Given the description of an element on the screen output the (x, y) to click on. 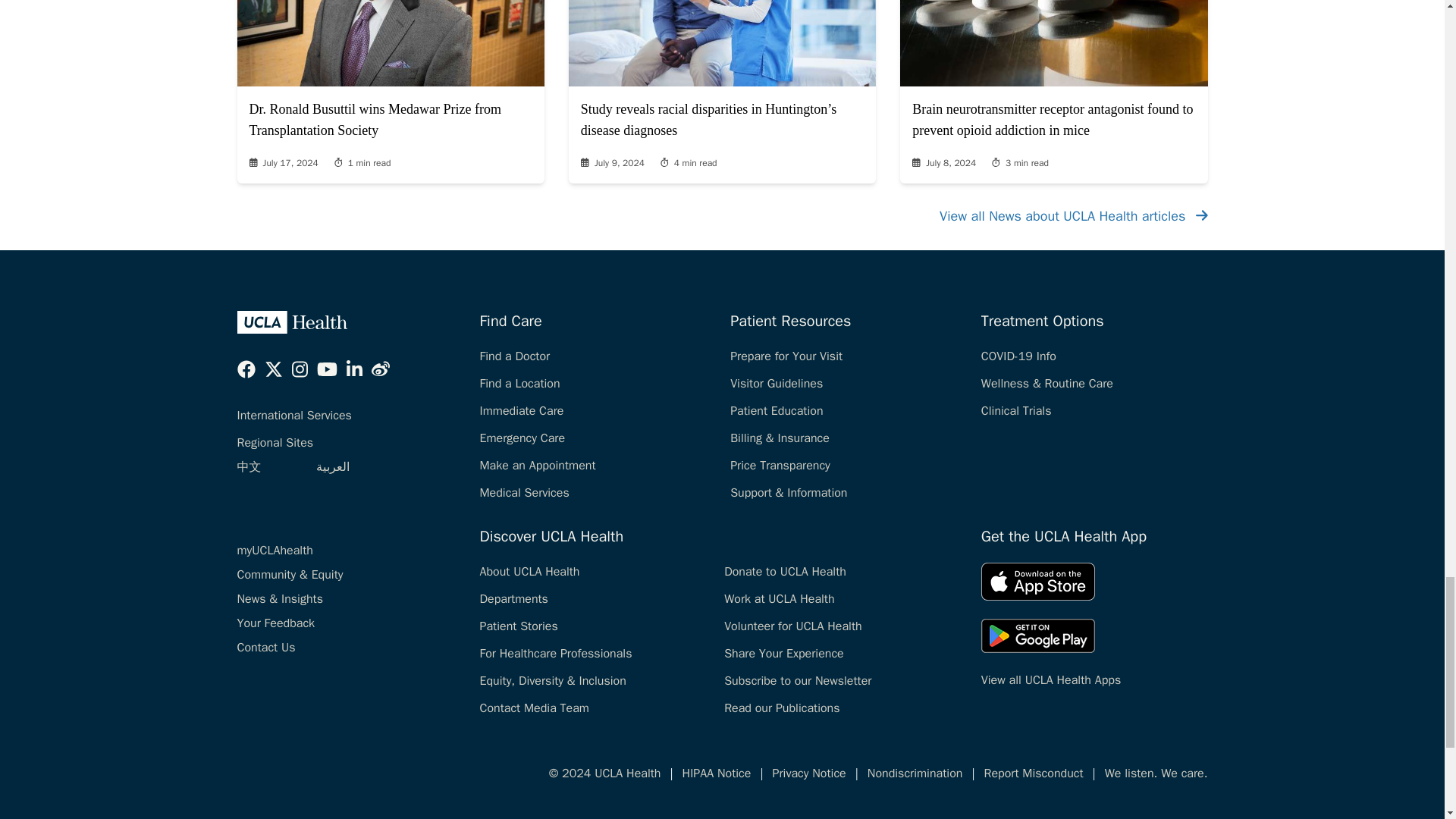
myUCLAhealth Login. (274, 549)
